Given the description of an element on the screen output the (x, y) to click on. 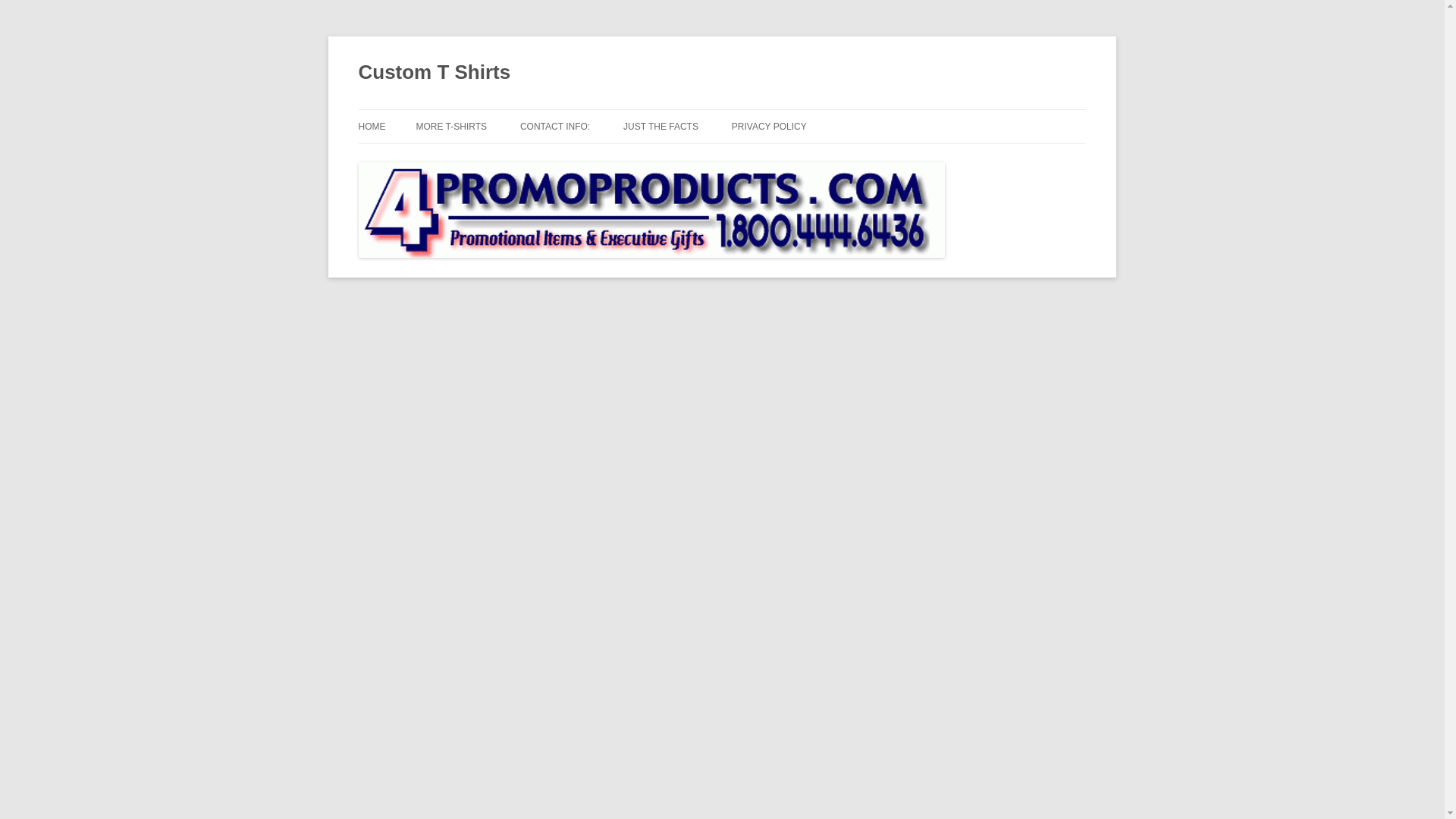
PRIVACY POLICY (769, 126)
Custom T Shirts (434, 72)
JUST THE FACTS (660, 126)
MORE T-SHIRTS (450, 126)
Custom T Shirts (434, 72)
CONTACT INFO: (554, 126)
